Given the description of an element on the screen output the (x, y) to click on. 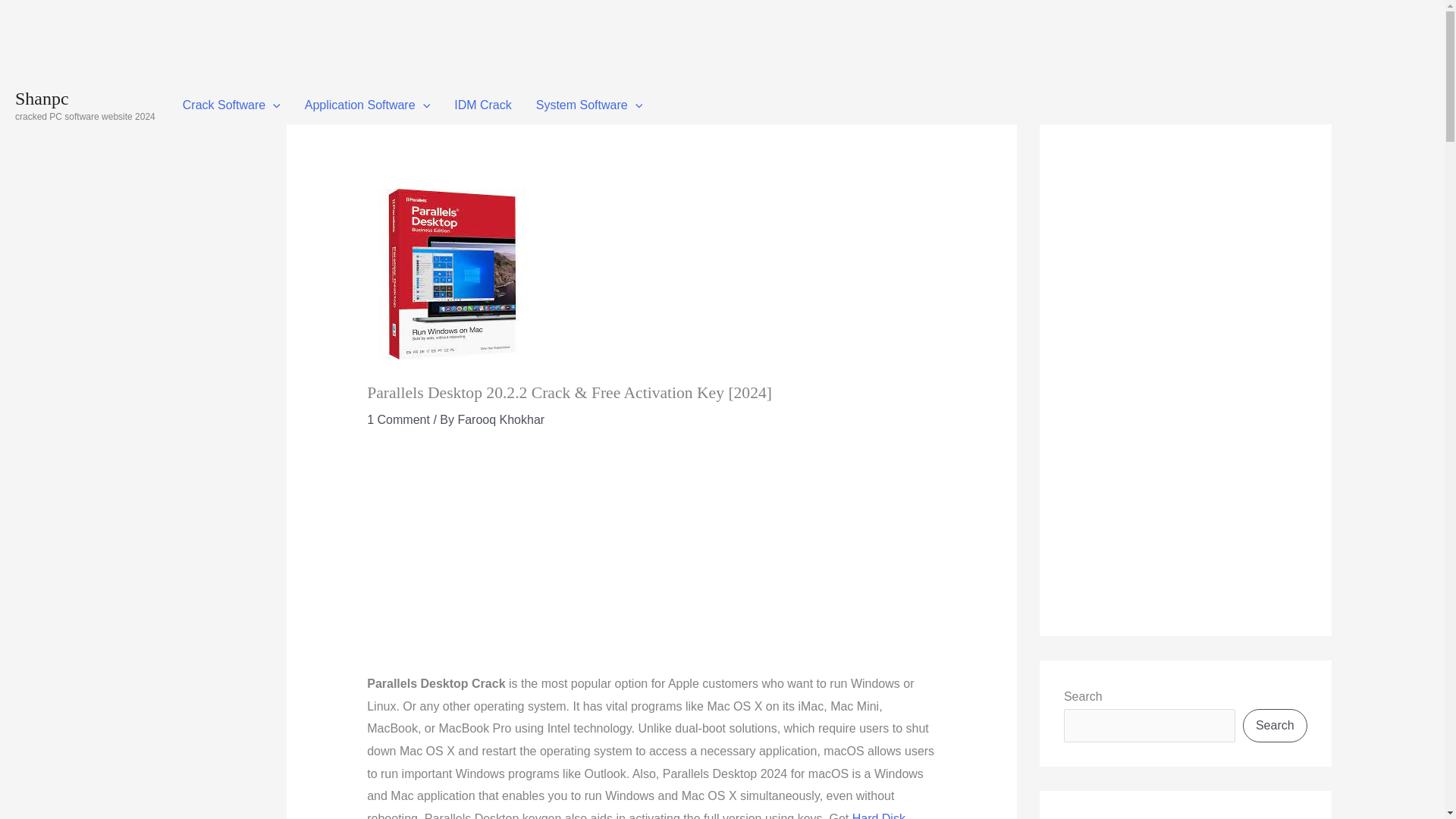
Advertisement (493, 558)
Crack Software (231, 104)
System Software (589, 104)
Shanpc (41, 98)
View all posts by Farooq Khokhar (500, 419)
Advertisement (275, 33)
Application Software (367, 104)
IDM Crack (483, 104)
